Given the description of an element on the screen output the (x, y) to click on. 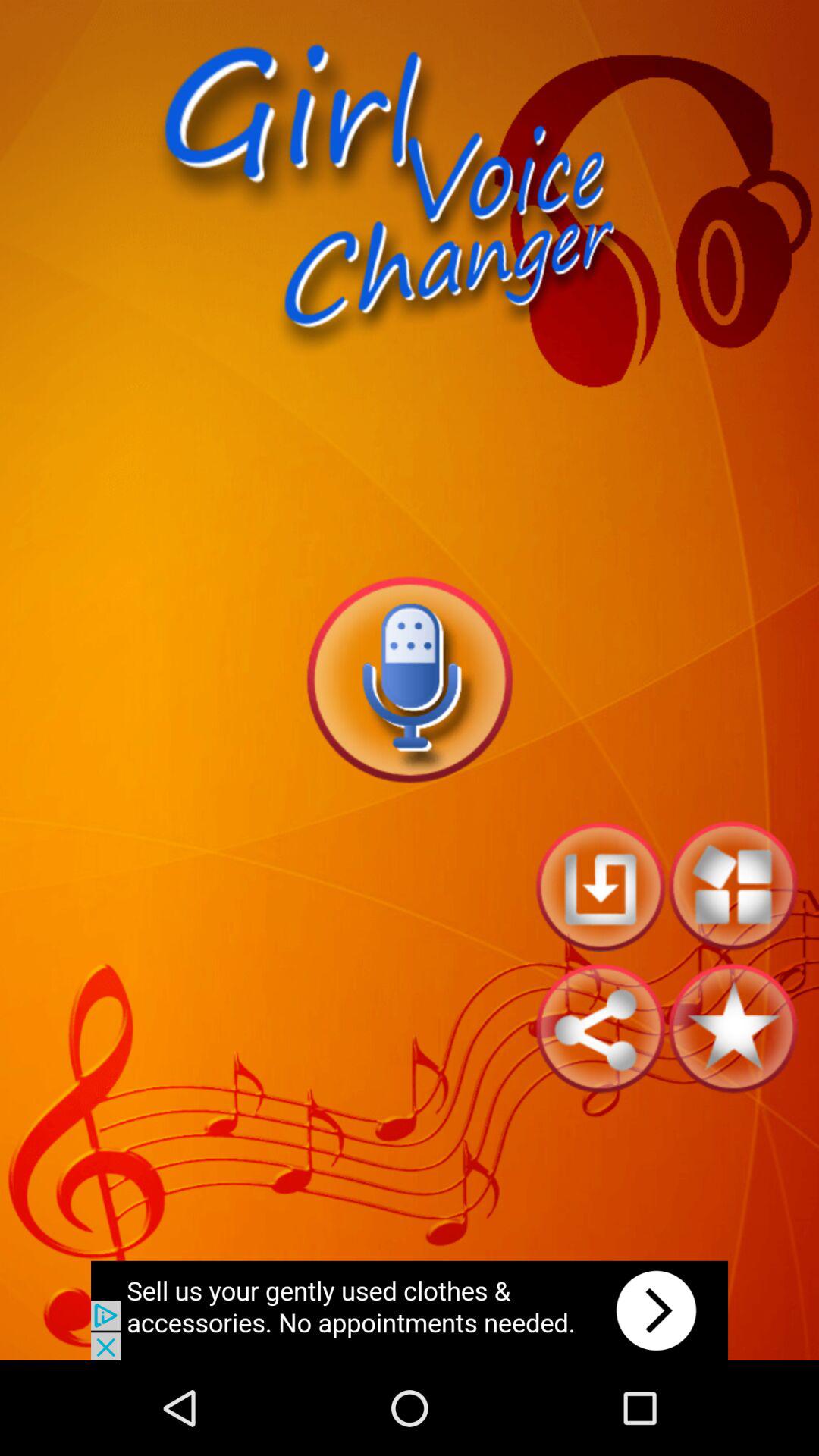
restart option (600, 885)
